Given the description of an element on the screen output the (x, y) to click on. 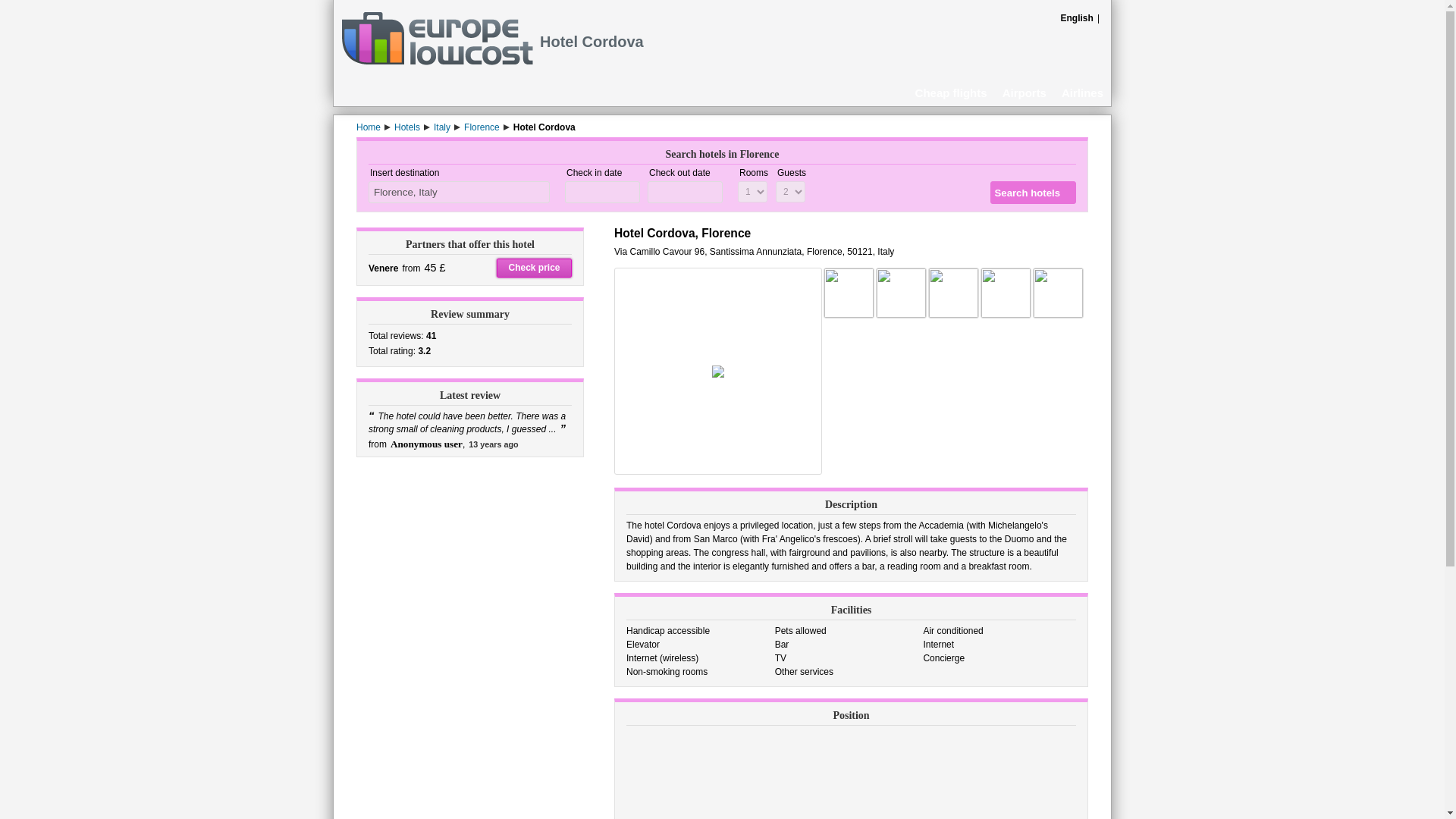
Hotels (407, 127)
Cheap flights (950, 91)
Italy (441, 127)
Airlines (1082, 91)
Home (368, 127)
Check price (534, 267)
Florence (481, 127)
Airports (1024, 91)
Florence (481, 127)
Home (368, 127)
